Given the description of an element on the screen output the (x, y) to click on. 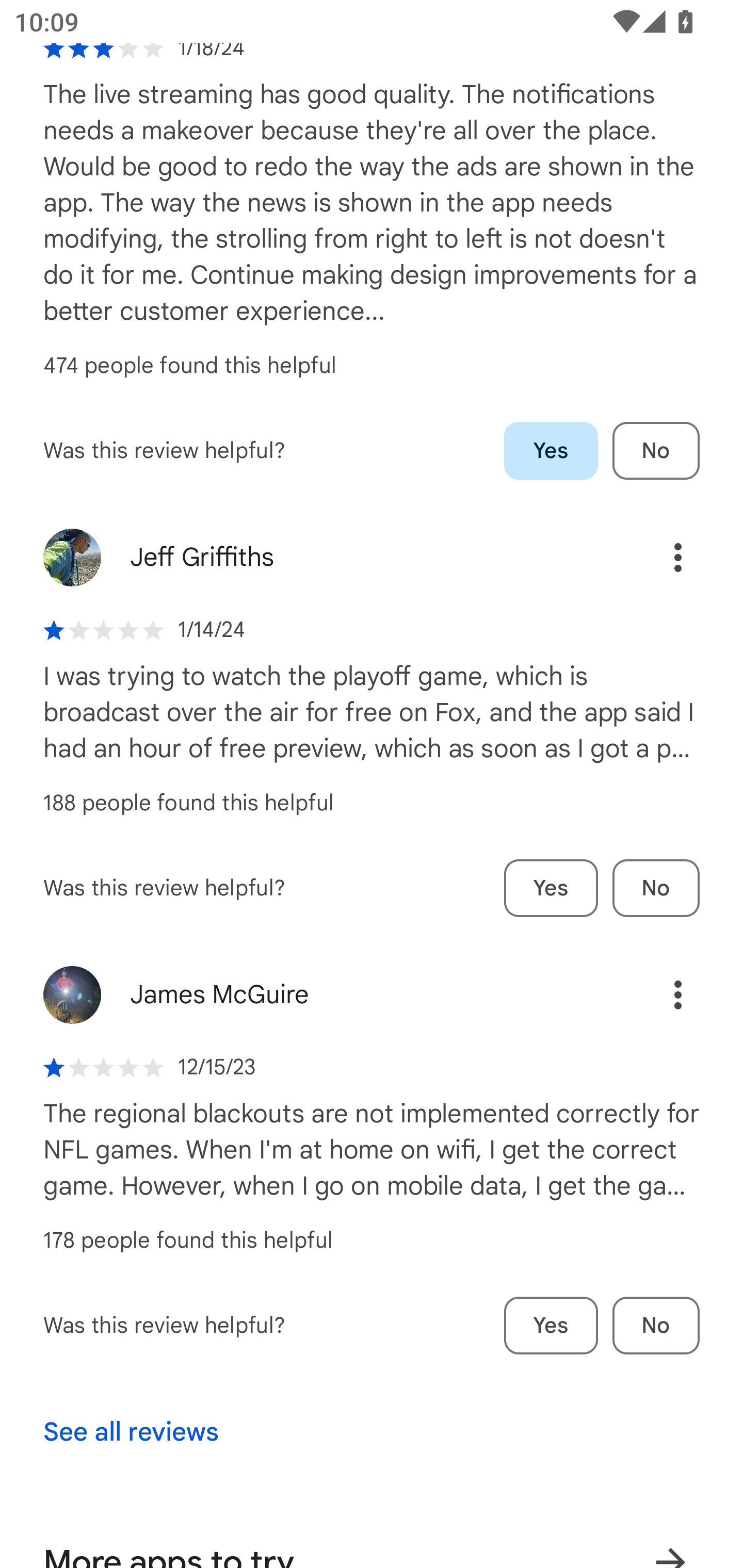
Yes (550, 450)
No (655, 450)
Options (655, 557)
Yes (550, 888)
No (655, 888)
Options (655, 994)
Yes (550, 1325)
No (655, 1325)
See all reviews (130, 1432)
